Given the description of an element on the screen output the (x, y) to click on. 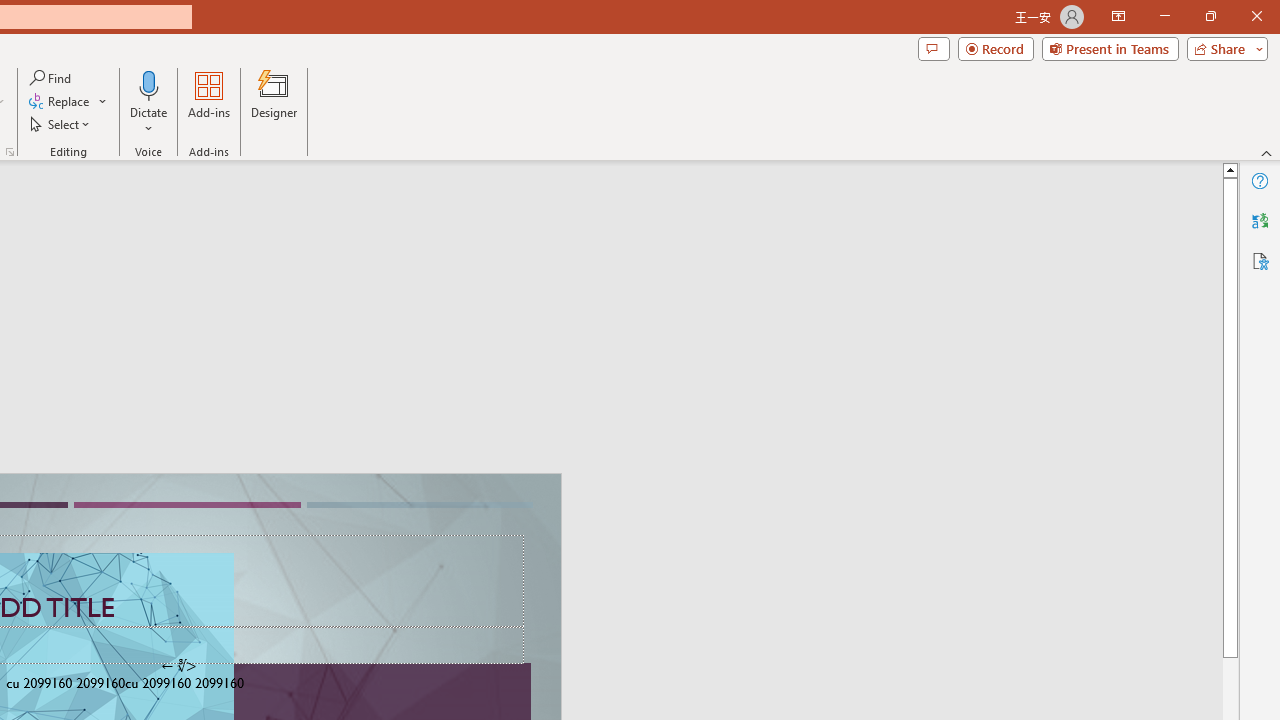
TextBox 7 (178, 666)
